Given the description of an element on the screen output the (x, y) to click on. 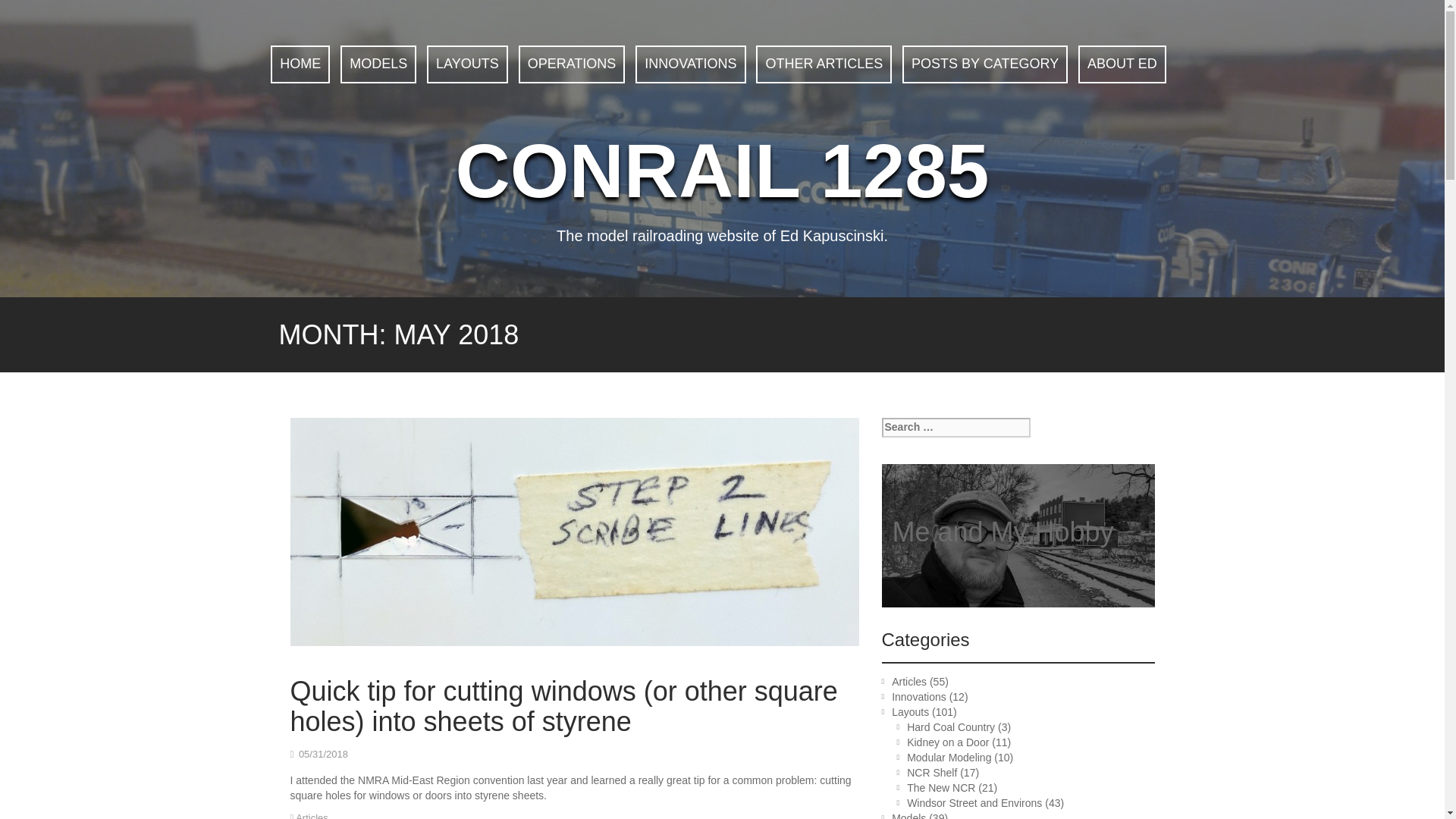
OTHER ARTICLES (823, 64)
LAYOUTS (467, 64)
MODELS (378, 64)
Articles (908, 681)
HOME (299, 64)
CONRAIL 1285 (722, 169)
Innovations (918, 696)
Search (22, 9)
Layouts (909, 711)
OPERATIONS (571, 64)
